Given the description of an element on the screen output the (x, y) to click on. 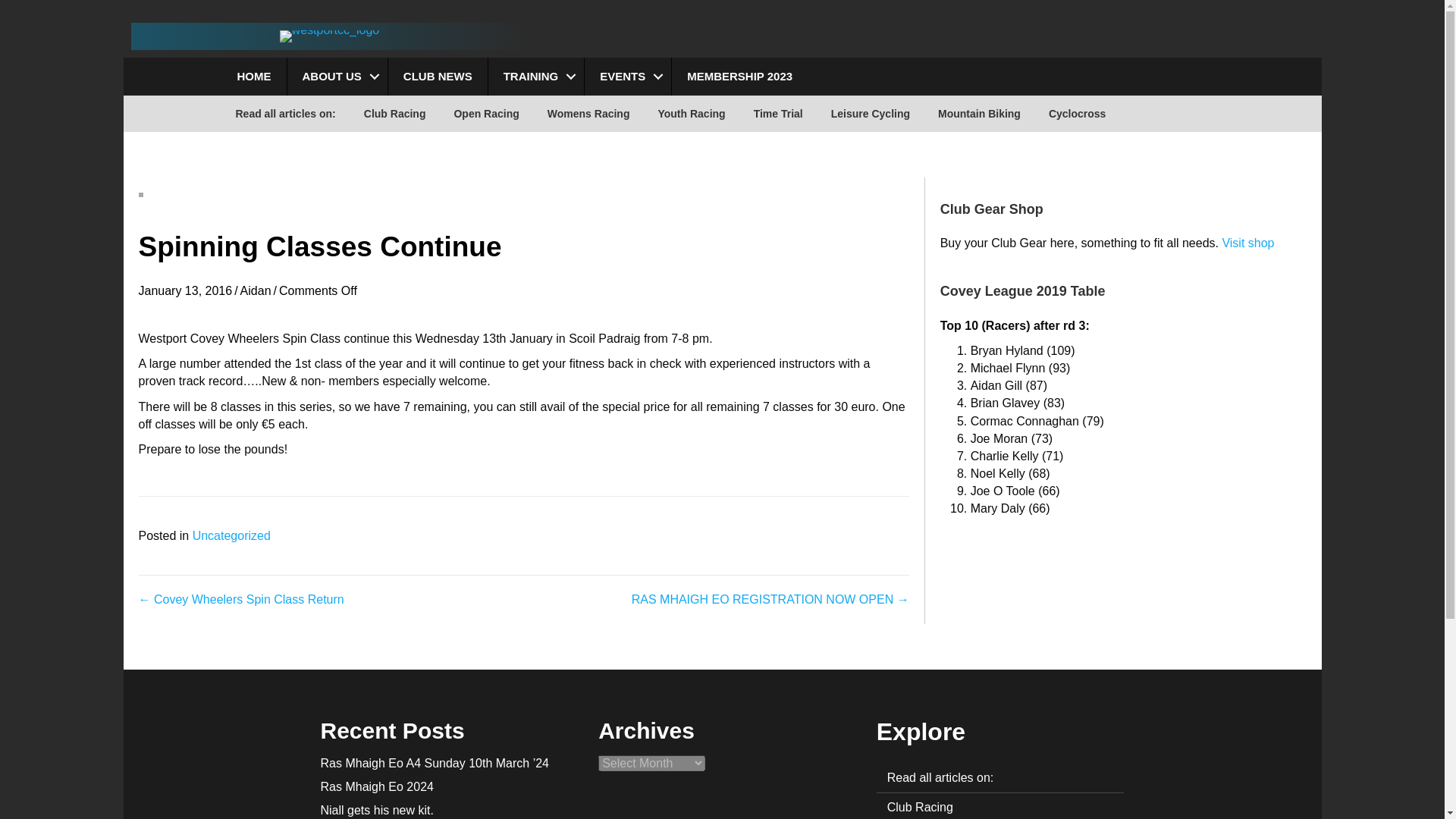
Club Racing (1000, 806)
Time Trial (777, 113)
HOME (253, 76)
Read all articles on: (285, 113)
Mountain Biking (978, 113)
Open Racing (485, 113)
Ras Mhaigh Eo 2024 (376, 786)
EVENTS (628, 76)
Visit shop (1247, 242)
Uncategorized (231, 535)
Leisure Cycling (869, 113)
Club Racing (394, 113)
ABOUT US (336, 76)
Aidan (255, 290)
Youth Racing (690, 113)
